Given the description of an element on the screen output the (x, y) to click on. 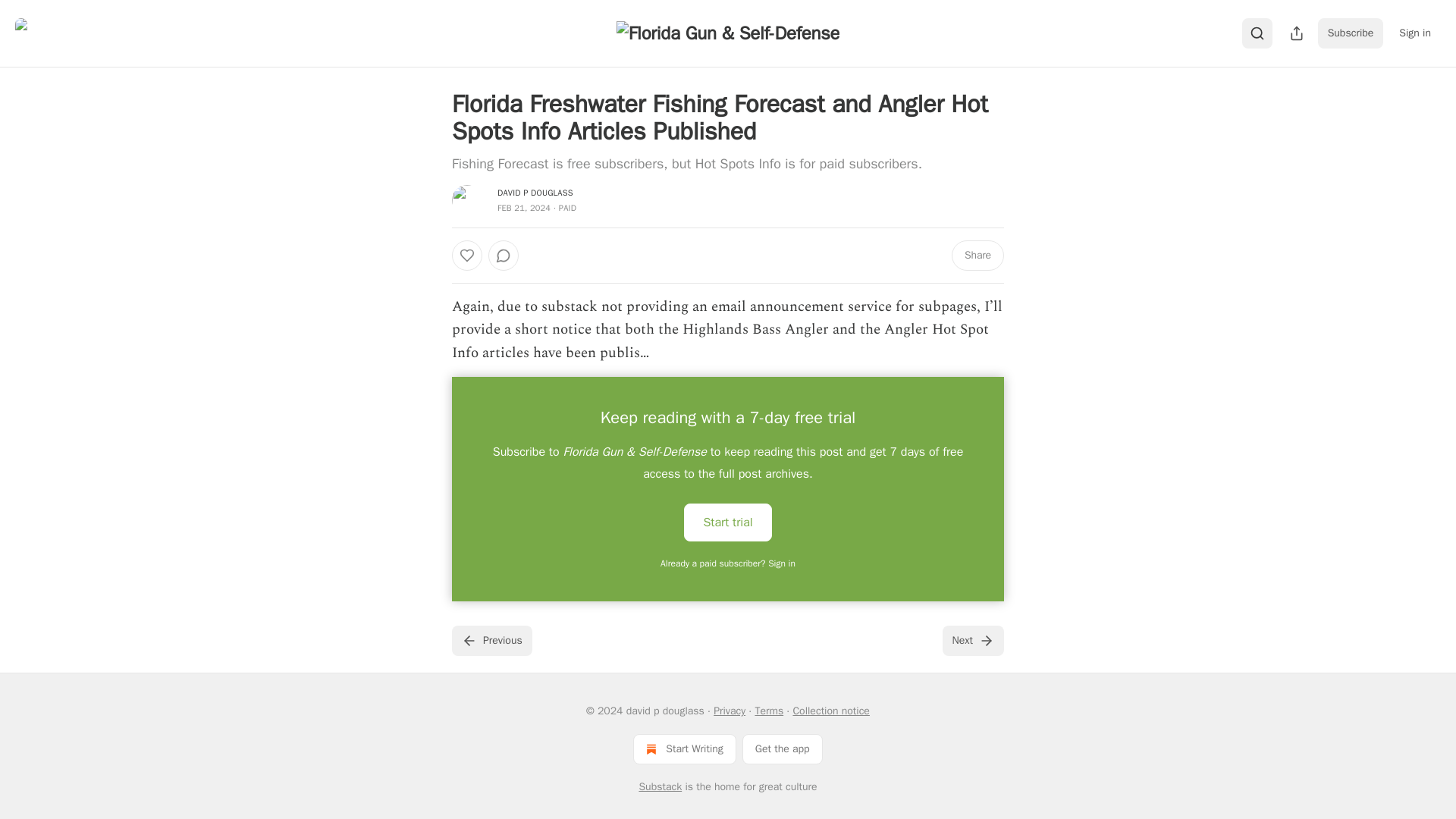
Subscribe (1350, 33)
DAVID P DOUGLASS (535, 192)
Substack (660, 786)
Terms (768, 710)
Privacy (729, 710)
Next (973, 640)
Get the app (782, 748)
Start trial (727, 522)
Start trial (727, 521)
Sign in (1415, 33)
Already a paid subscriber? Sign in (727, 563)
Share (978, 255)
Previous (491, 640)
Collection notice (830, 710)
Start Writing (684, 748)
